Given the description of an element on the screen output the (x, y) to click on. 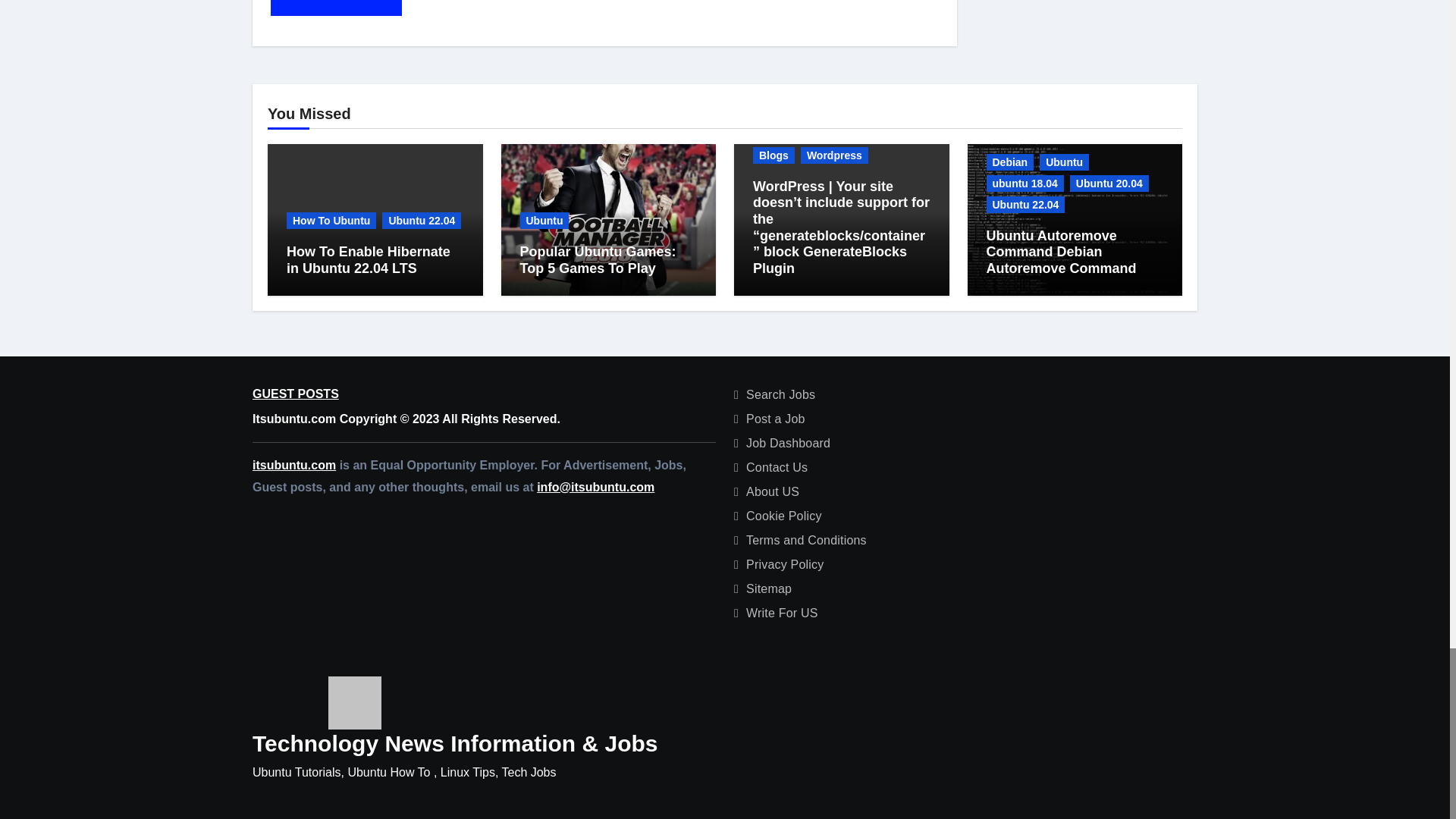
Post Comment (335, 7)
Permalink to: How To Enable Hibernate in Ubuntu 22.04 LTS (367, 260)
Permalink to: Popular Ubuntu Games: Top 5 Games To Play (598, 260)
